Given the description of an element on the screen output the (x, y) to click on. 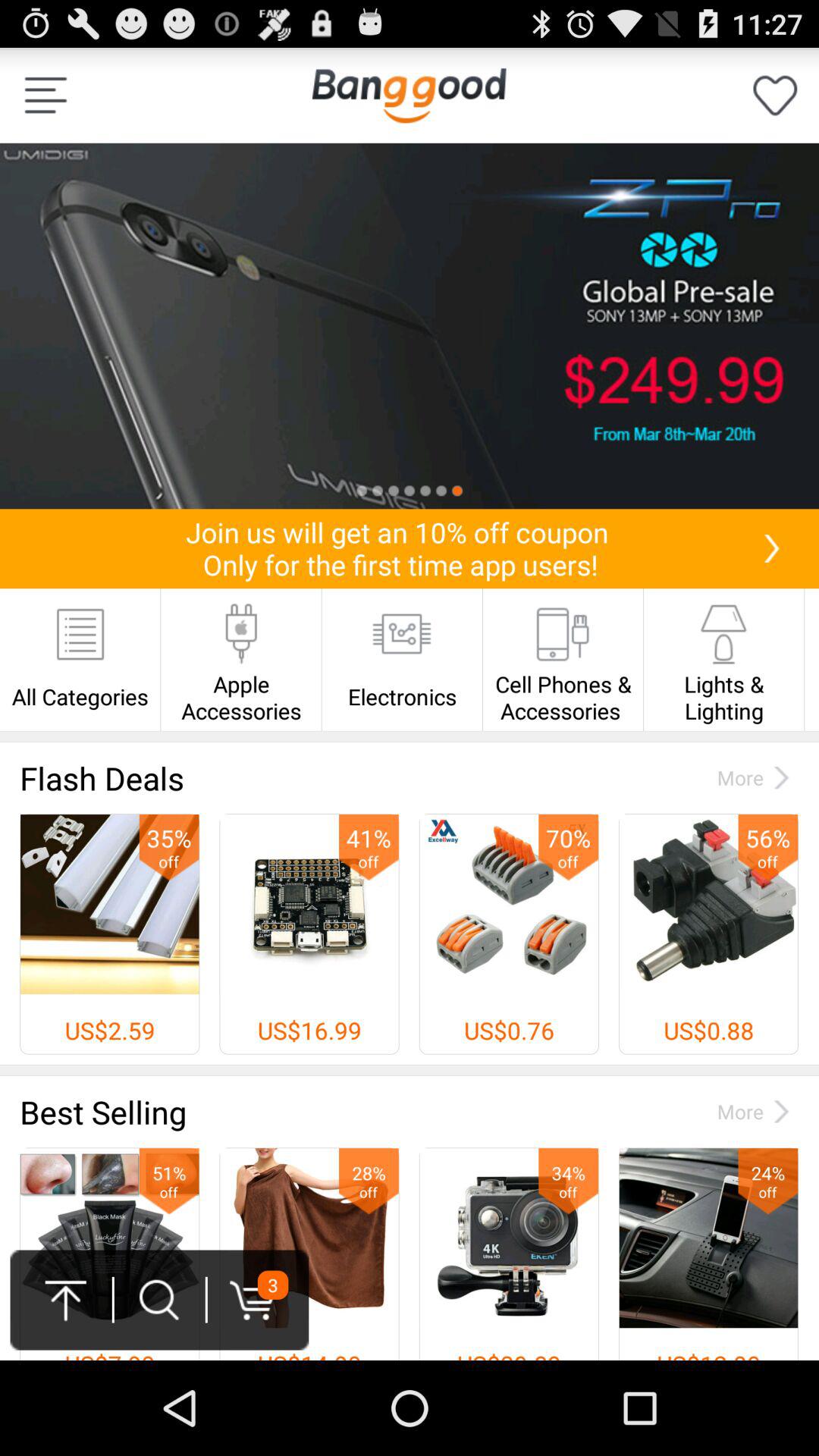
clicking this takes me to the store 's home page (409, 95)
